Given the description of an element on the screen output the (x, y) to click on. 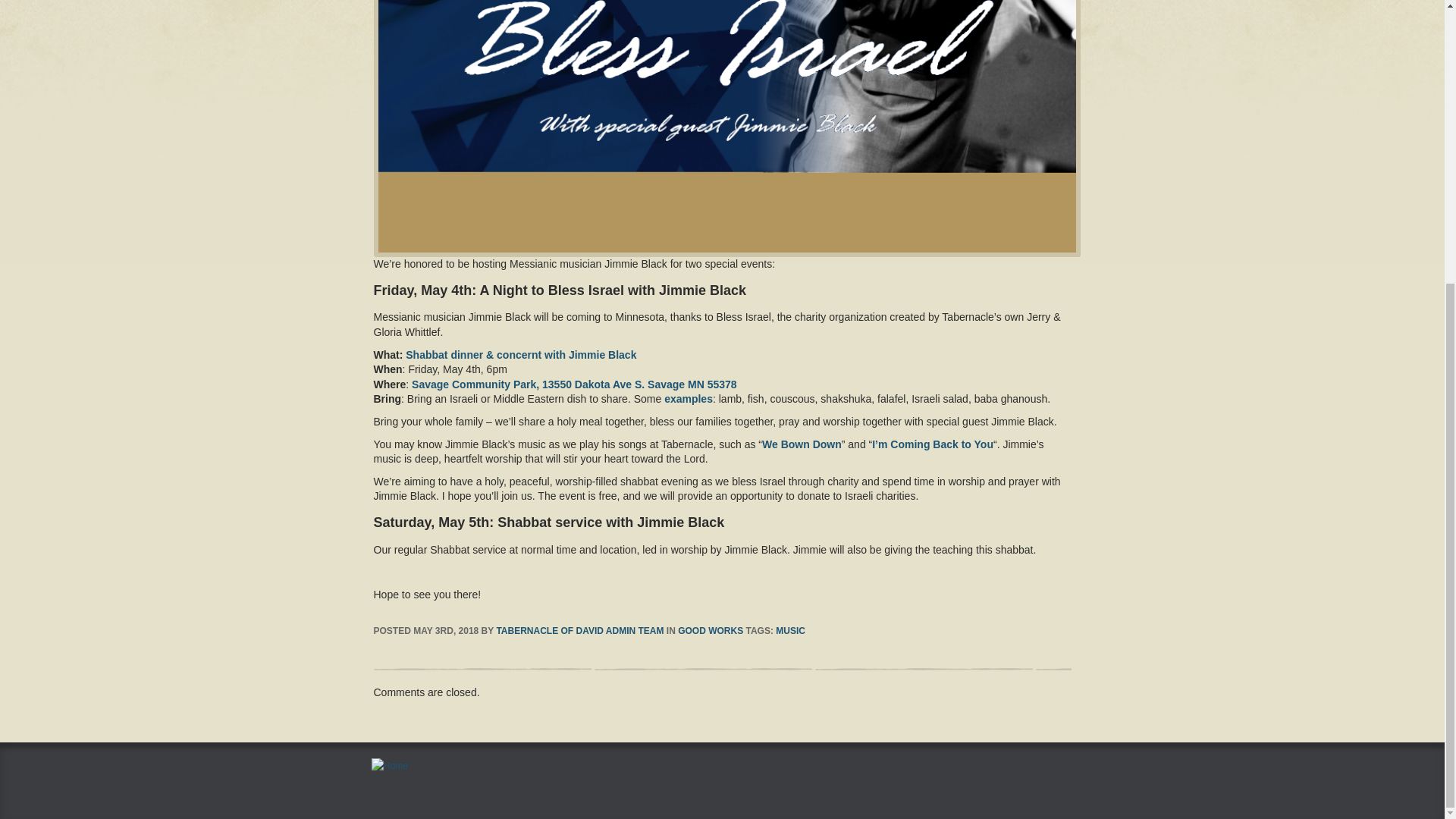
MUSIC (790, 630)
GOOD WORKS (710, 630)
We Bown Down (801, 444)
Savage Community Park, 13550 Dakota Ave S. Savage MN 55378 (574, 384)
Home (389, 765)
TABERNACLE OF DAVID ADMIN TEAM (579, 630)
Posts by Tabernacle of David Admin Team (579, 630)
examples (688, 398)
